Given the description of an element on the screen output the (x, y) to click on. 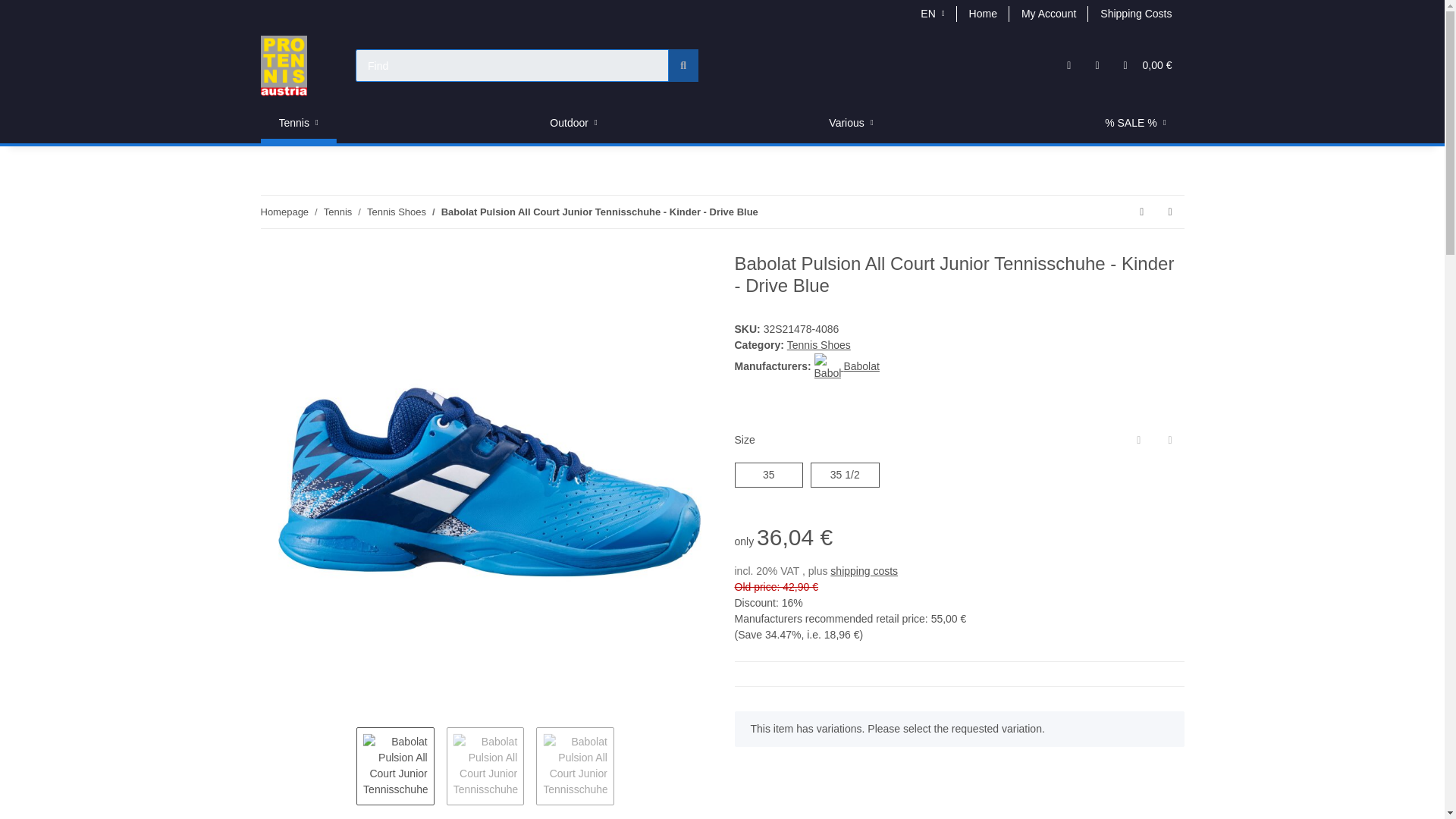
Tennis (298, 123)
Shipping Costs Overview (1135, 13)
Various (850, 123)
Shipping Costs (1135, 13)
12232 (834, 471)
Outdoor (572, 123)
Various (850, 123)
Outdoor (572, 123)
Tennis (298, 123)
Tennis Shoes (396, 212)
Home (982, 13)
Tennis (298, 123)
My Account (1048, 13)
12231 (767, 471)
Homepage (284, 212)
